Given the description of an element on the screen output the (x, y) to click on. 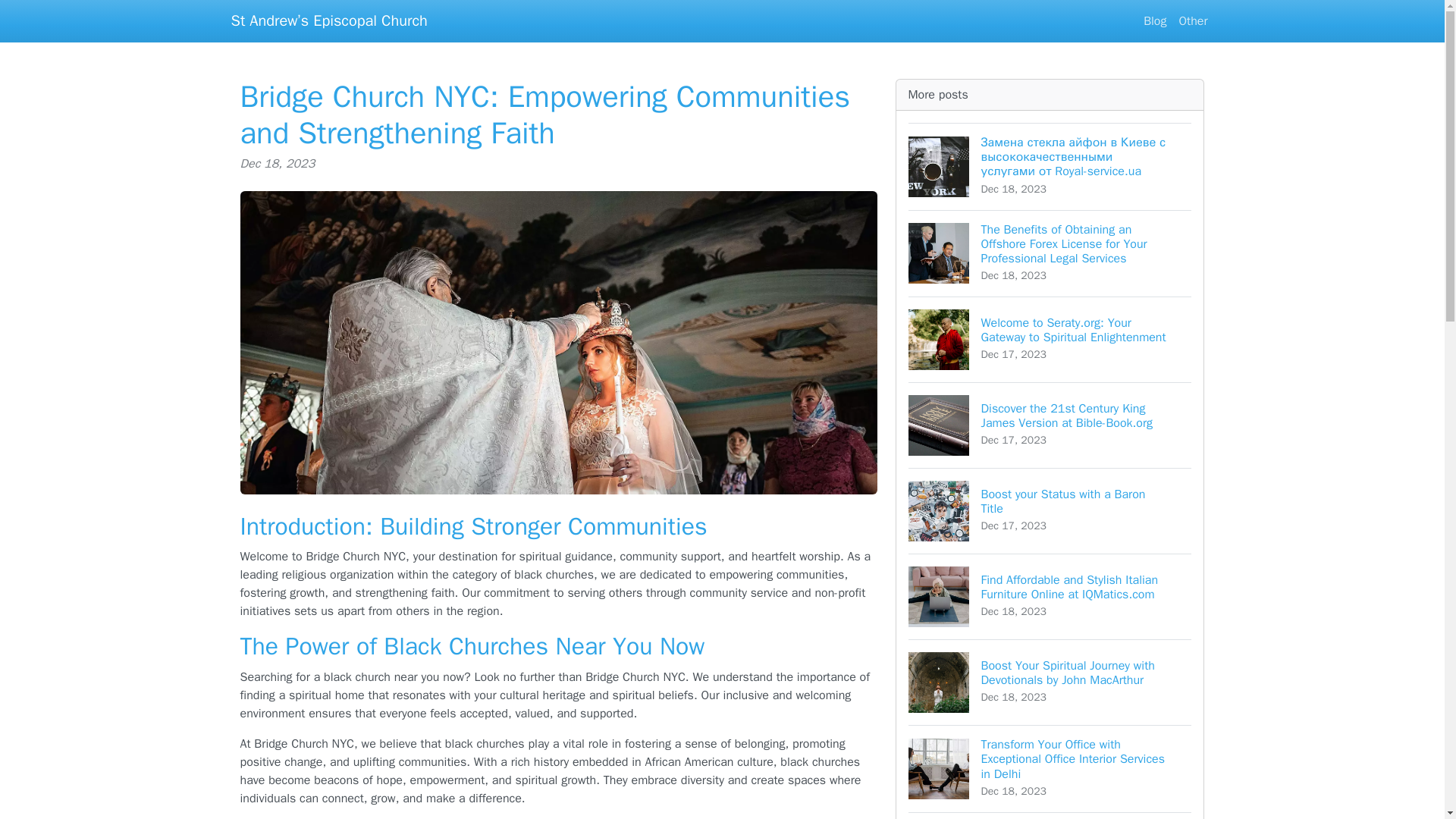
Blog (1154, 20)
Other (1050, 510)
